Given the description of an element on the screen output the (x, y) to click on. 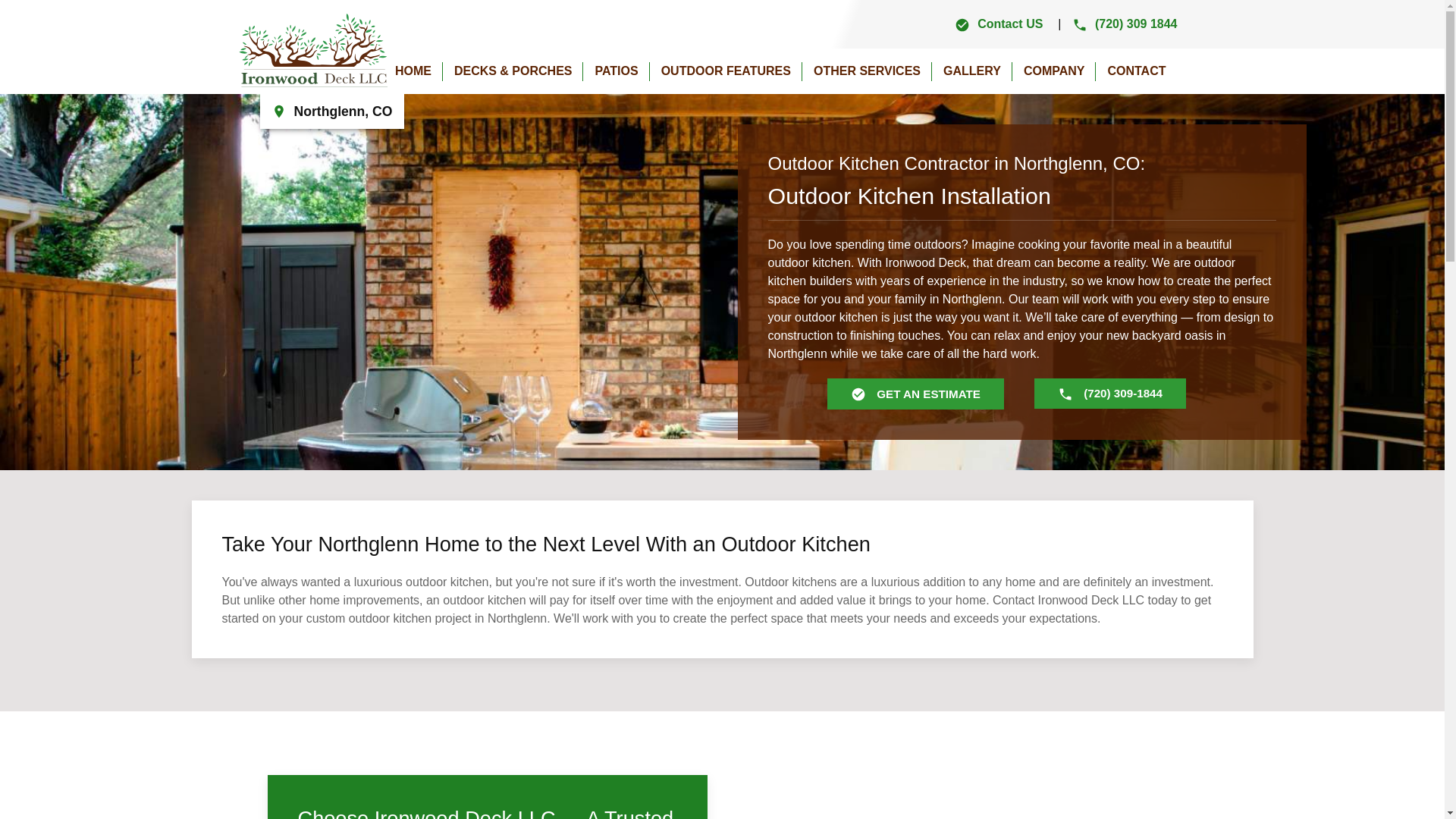
OUTDOOR FEATURES (725, 71)
Contact US (998, 23)
CONTACT (1136, 71)
HOME (413, 71)
PATIOS (616, 71)
GET AN ESTIMATE (915, 393)
OTHER SERVICES (866, 71)
GALLERY (971, 71)
COMPANY (1053, 71)
